Given the description of an element on the screen output the (x, y) to click on. 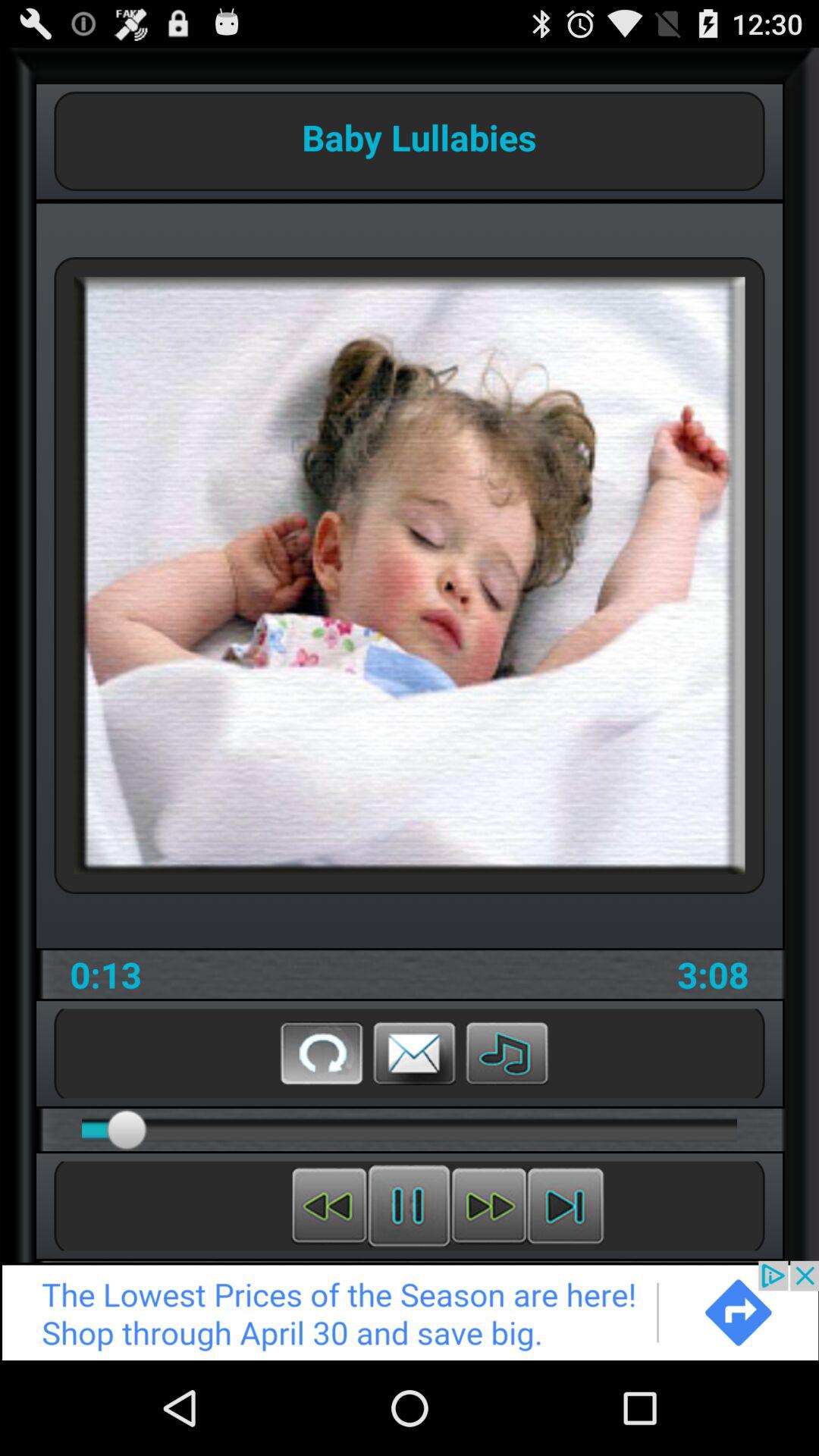
refresh button (321, 1053)
